Given the description of an element on the screen output the (x, y) to click on. 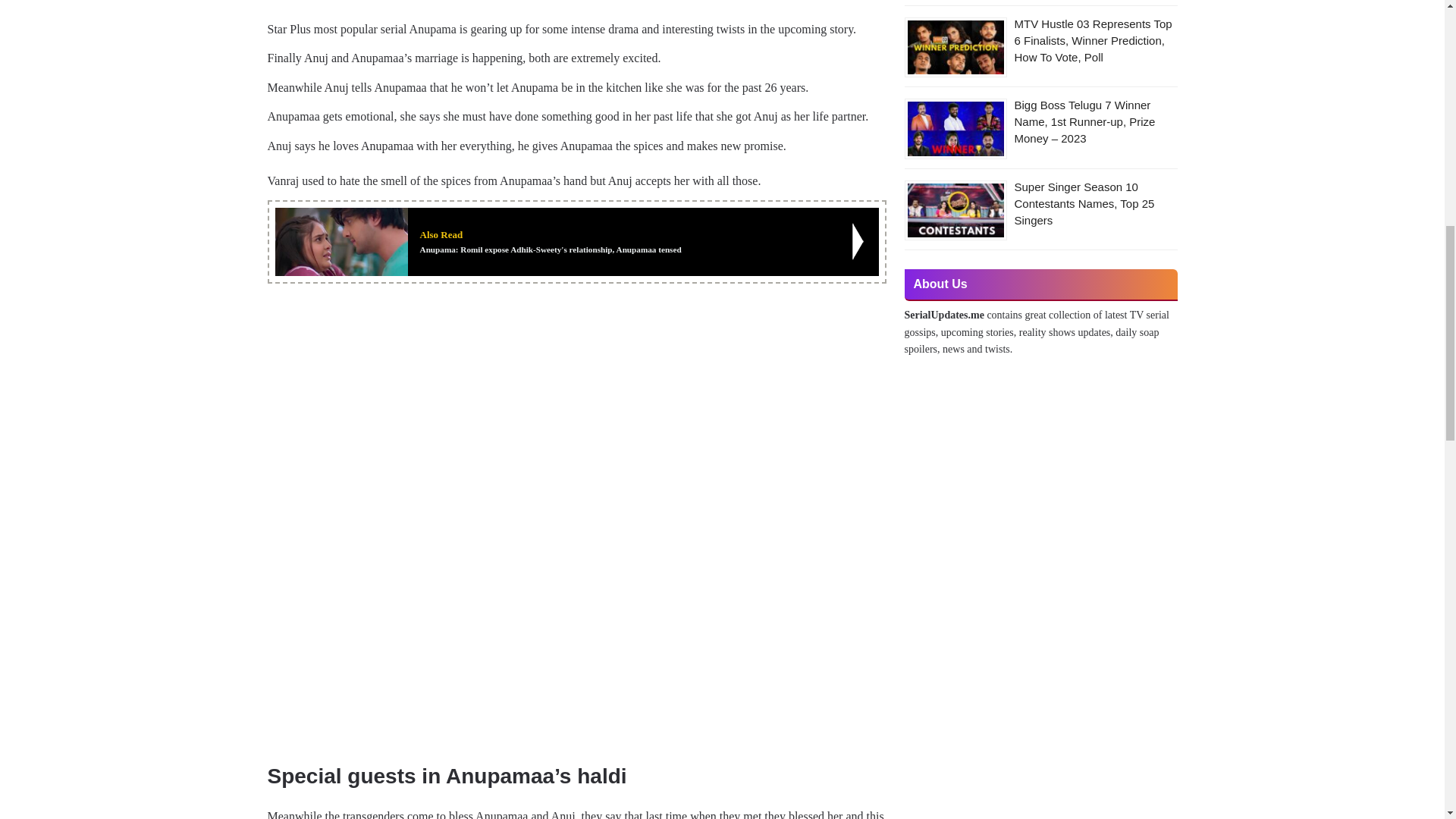
Advertisement (575, 6)
